Given the description of an element on the screen output the (x, y) to click on. 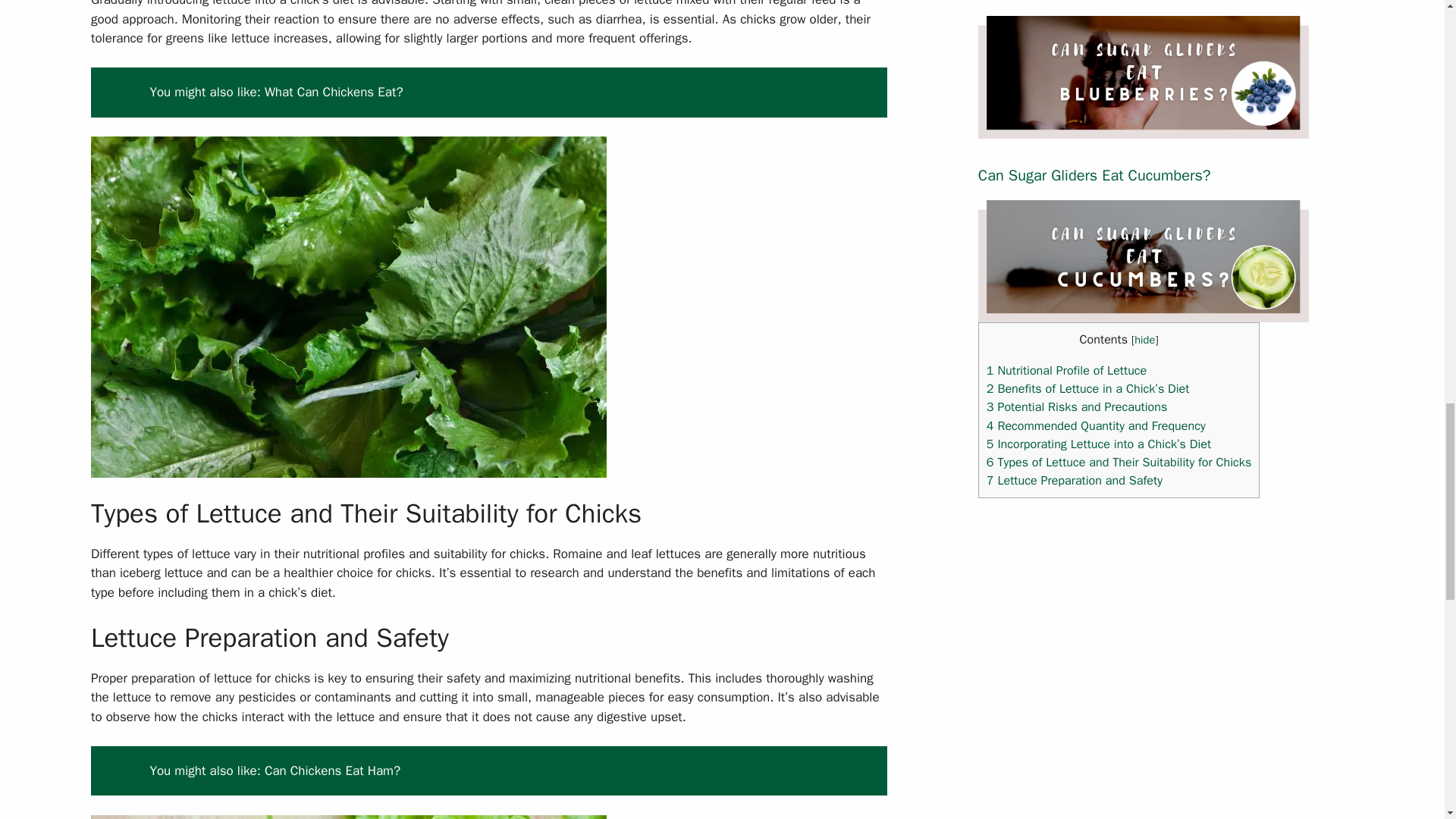
Can Sugar Gliders Eat Cucumbers? (1143, 312)
Can Sugar Gliders Eat Cucumbers? (1094, 175)
hide (1144, 339)
What Can Chickens Eat? (333, 91)
Can Chickens Eat Ham? (332, 770)
Can Sugar Gliders Eat Blueberries? (1143, 128)
